Given the description of an element on the screen output the (x, y) to click on. 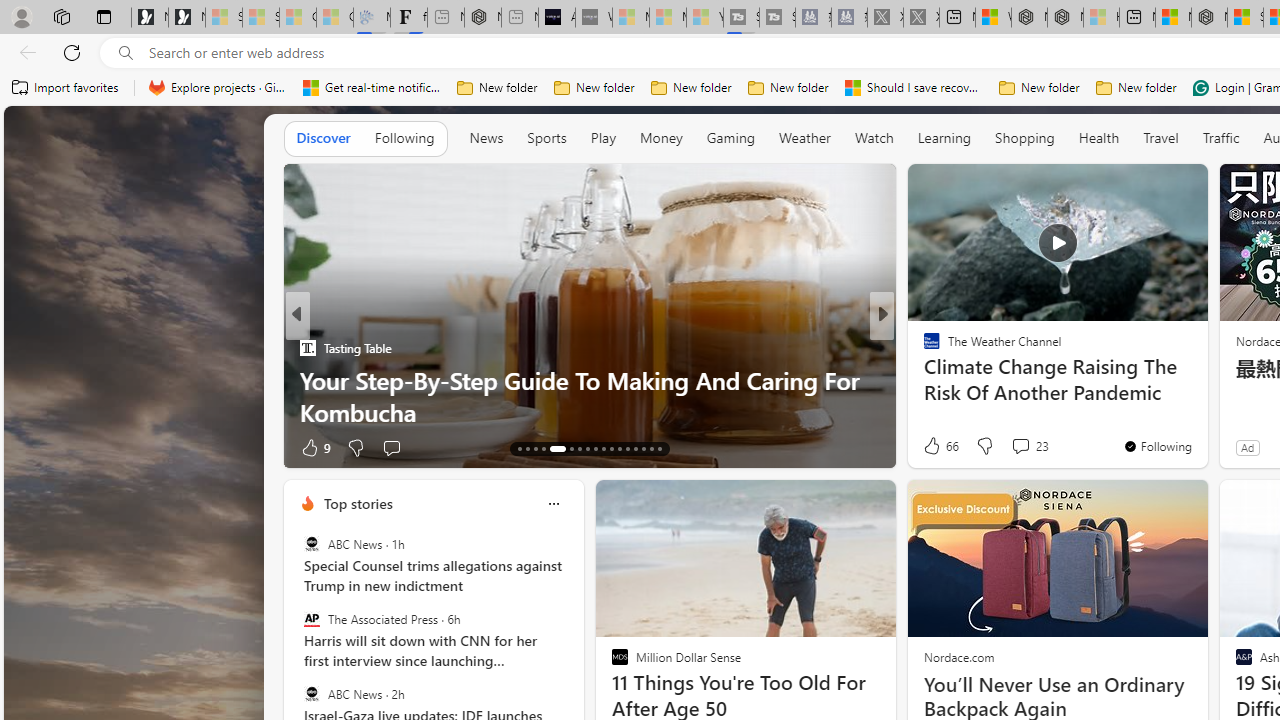
AutomationID: tab-23 (610, 448)
20 Like (934, 447)
62 Like (934, 447)
The Independent (923, 347)
View comments 10 Comment (1019, 447)
